Given the description of an element on the screen output the (x, y) to click on. 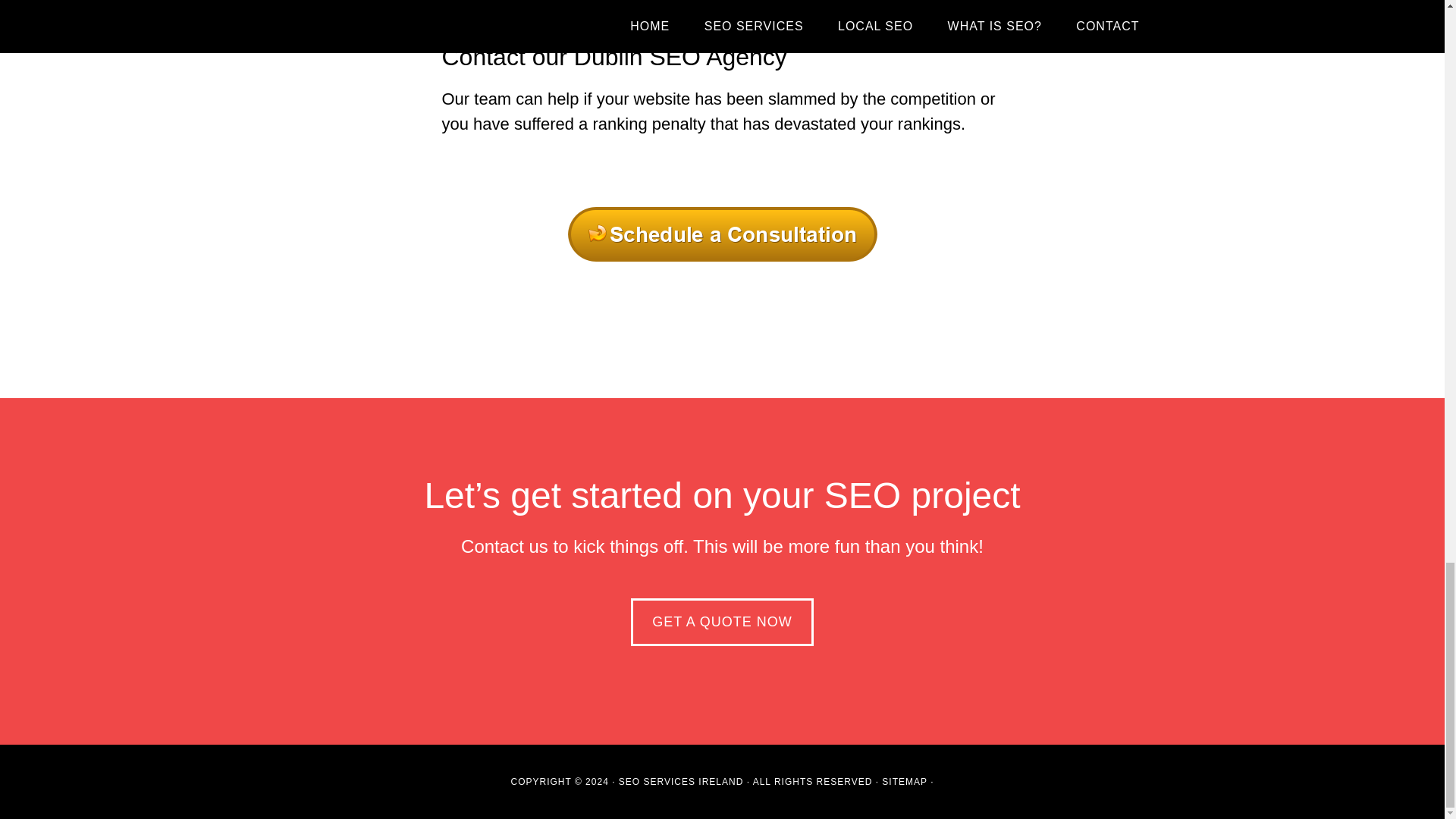
GET A QUOTE NOW (721, 621)
SITEMAP (906, 781)
SEO SERVICES IRELAND (682, 781)
